Given the description of an element on the screen output the (x, y) to click on. 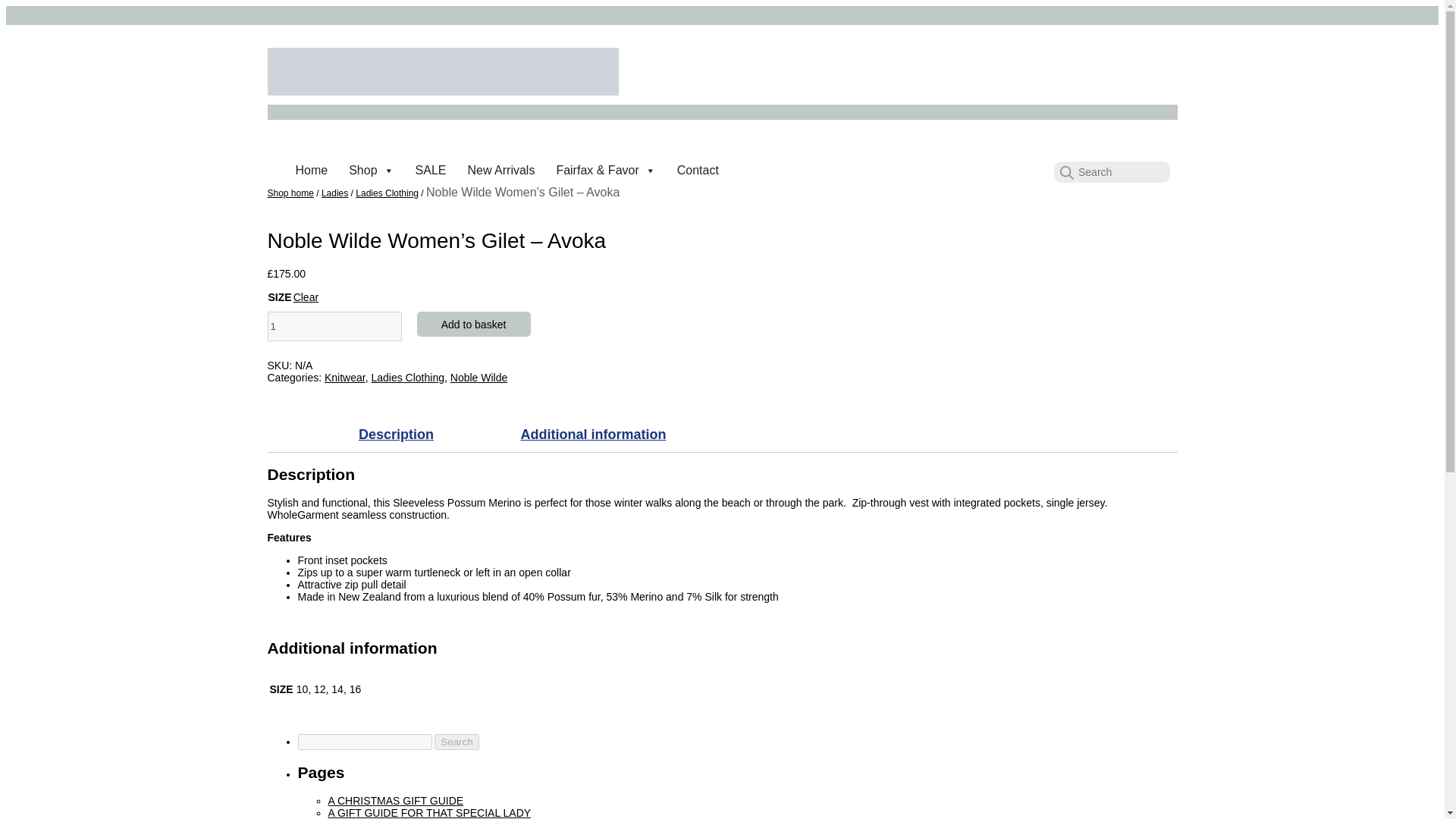
Knitwear (344, 377)
New Arrivals (500, 170)
Shop home (289, 193)
Clear (306, 297)
1 (333, 325)
Additional information (592, 433)
Home (312, 170)
Ladies (334, 193)
Noble Wilde (477, 377)
A CHRISTMAS GIFT GUIDE (395, 800)
